Given the description of an element on the screen output the (x, y) to click on. 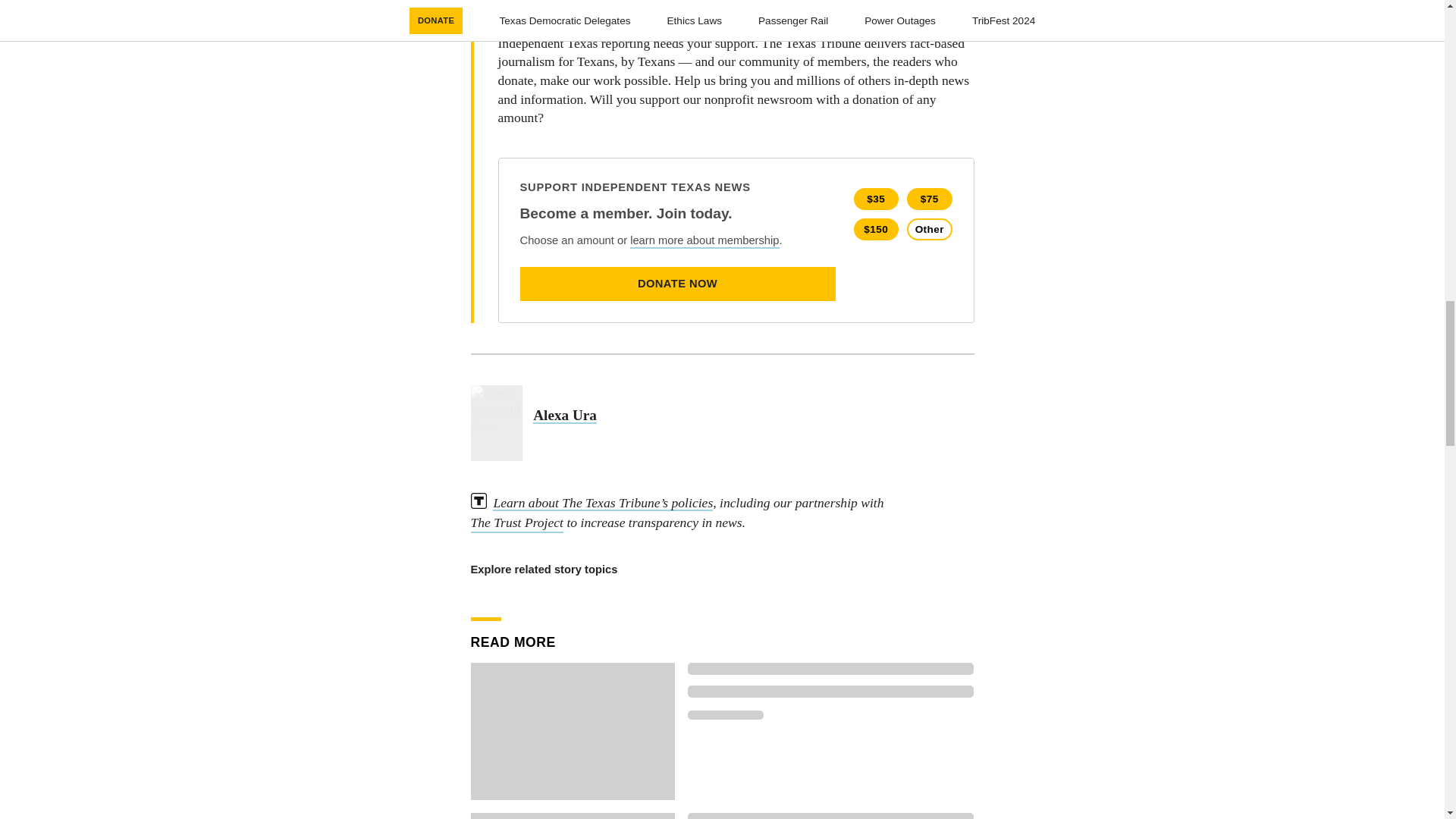
Loading indicator (830, 816)
Loading indicator (830, 691)
Loading indicator (830, 668)
Loading indicator (724, 714)
